Given the description of an element on the screen output the (x, y) to click on. 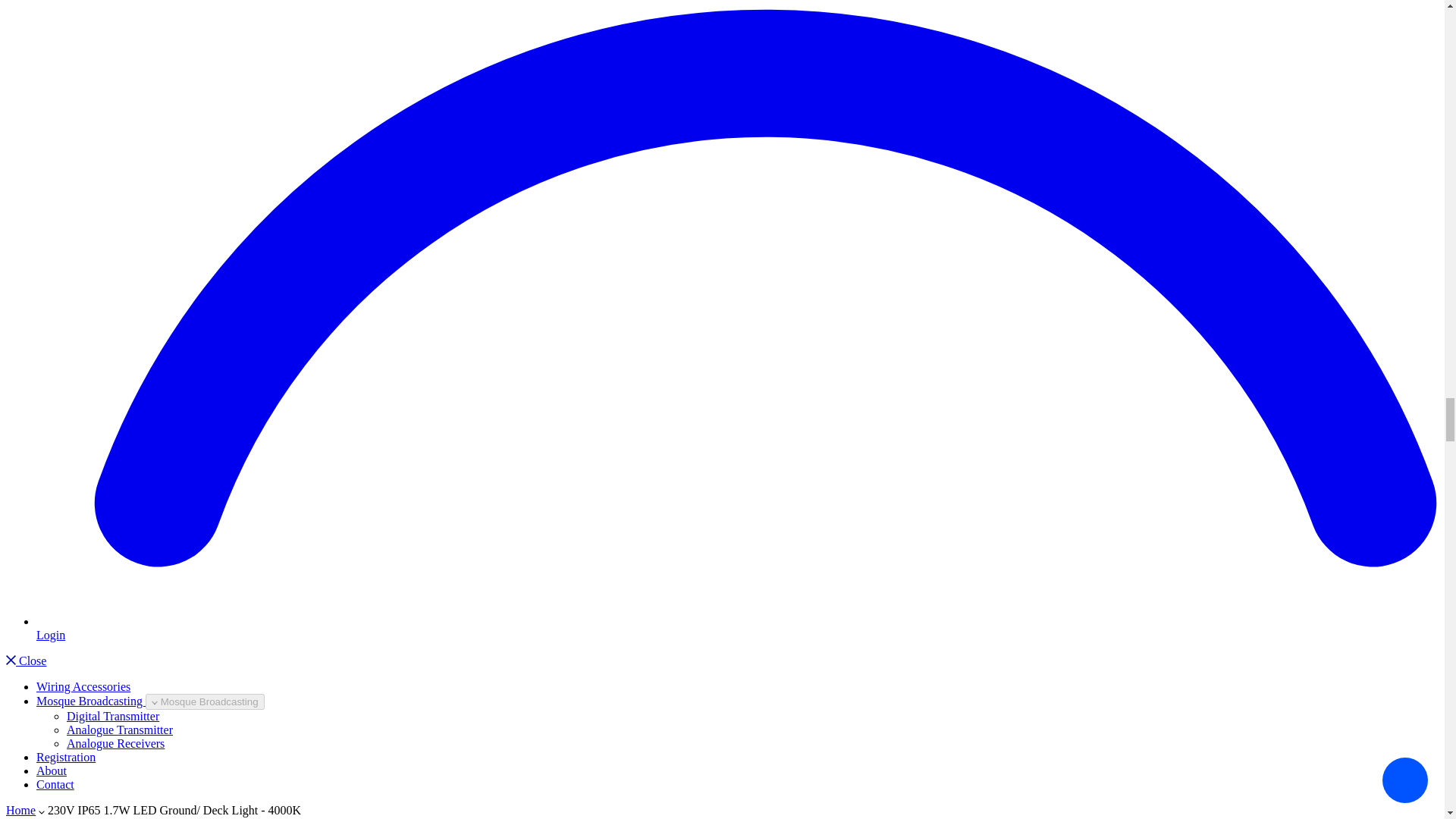
Analogue Transmitter (119, 729)
Contact (55, 784)
Mosque Broadcasting (90, 700)
Analogue Receivers (115, 743)
Close (25, 660)
Mosque Broadcasting (204, 701)
Wiring Accessories (83, 686)
Registration (66, 757)
Home (19, 809)
Digital Transmitter (112, 716)
About (51, 770)
